Given the description of an element on the screen output the (x, y) to click on. 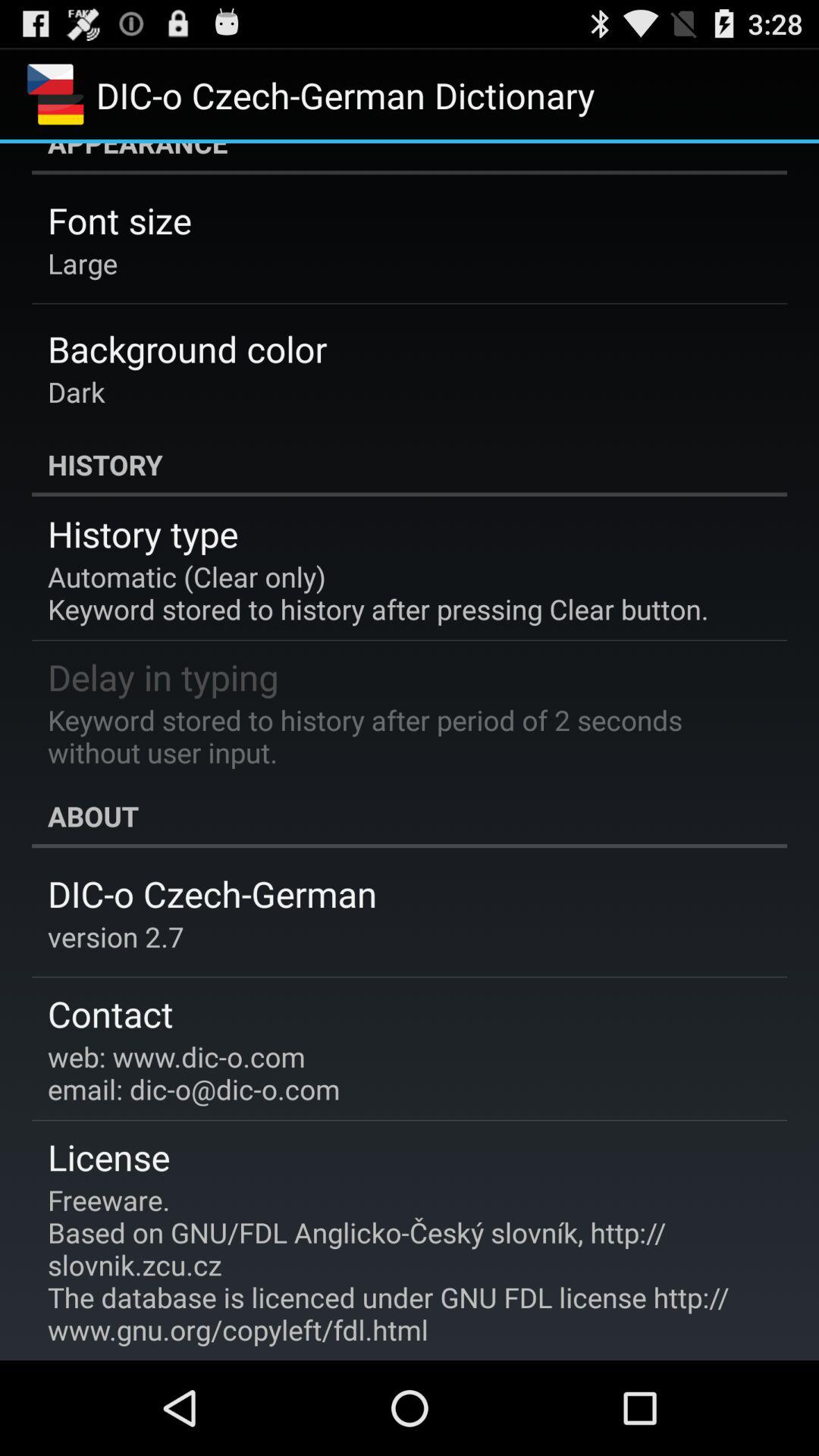
tap the icon at the bottom (399, 1264)
